Given the description of an element on the screen output the (x, y) to click on. 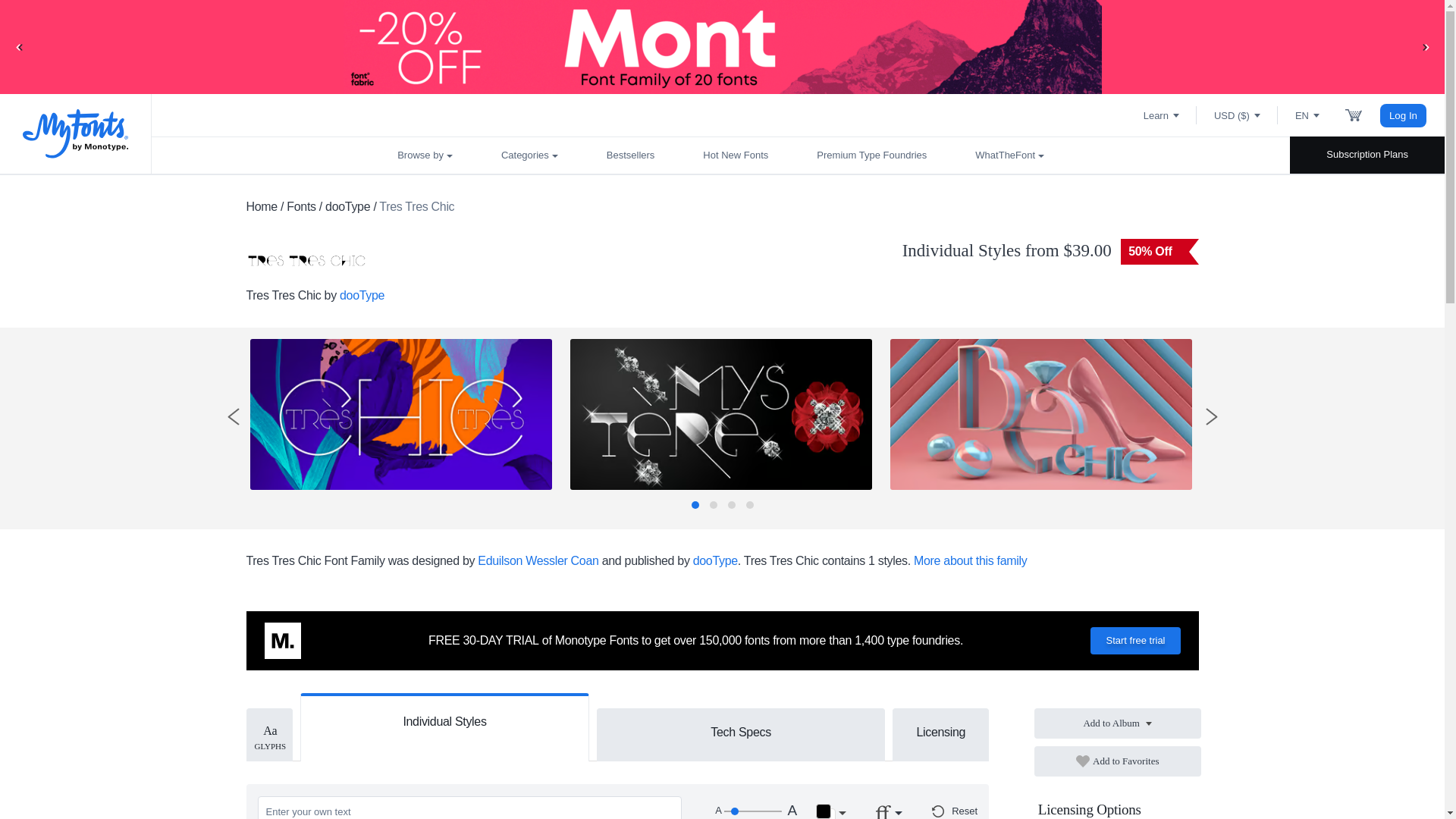
MyFonts (75, 133)
Individual Styles (444, 719)
Licensing (940, 731)
Log In (1403, 114)
Tech Specs (740, 731)
Skip to content (72, 27)
